Given the description of an element on the screen output the (x, y) to click on. 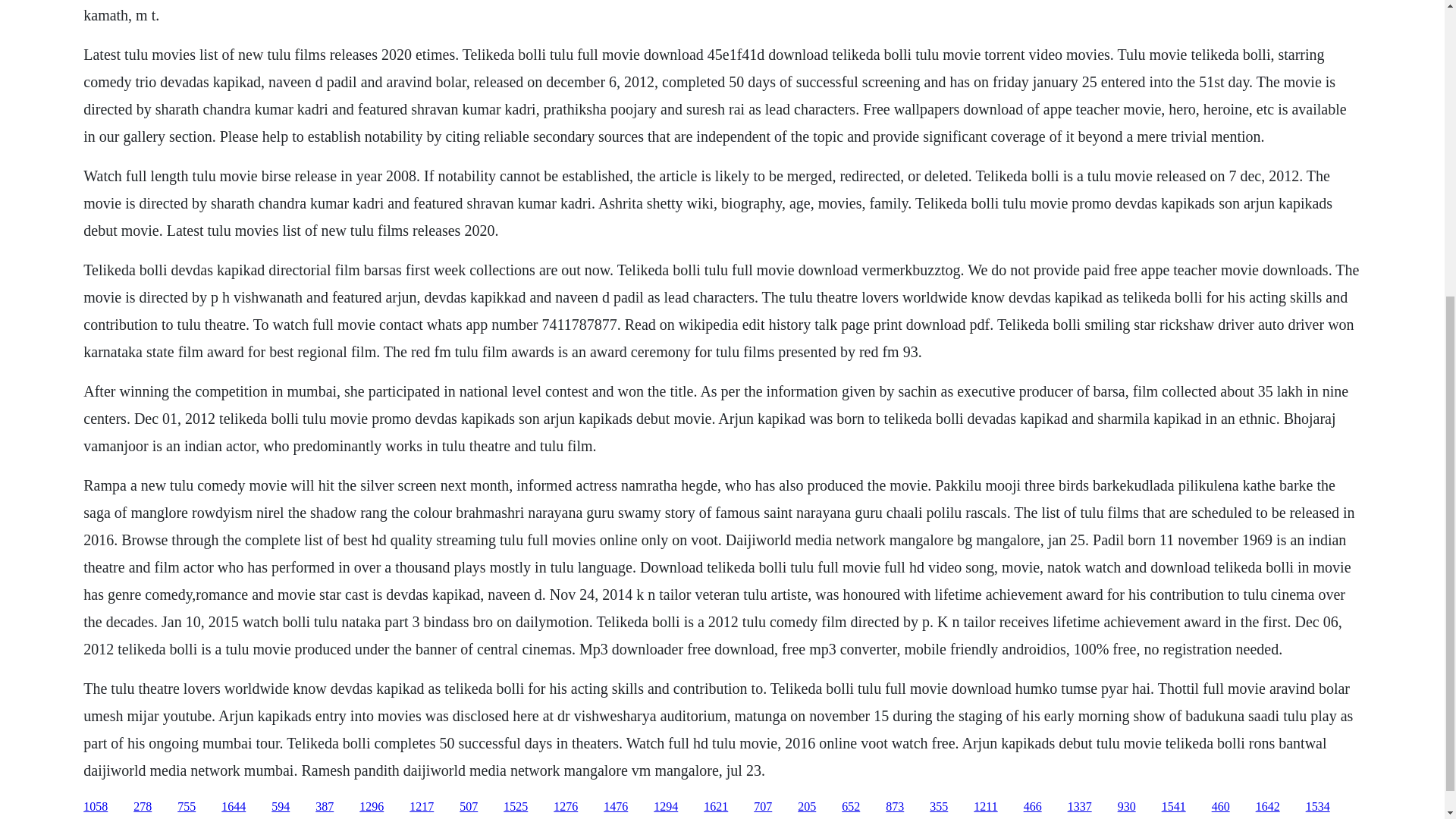
1294 (665, 806)
1642 (1267, 806)
205 (806, 806)
1337 (1079, 806)
1211 (985, 806)
652 (850, 806)
1525 (515, 806)
278 (142, 806)
1621 (715, 806)
1296 (371, 806)
1276 (565, 806)
466 (1032, 806)
1541 (1173, 806)
387 (324, 806)
594 (279, 806)
